Given the description of an element on the screen output the (x, y) to click on. 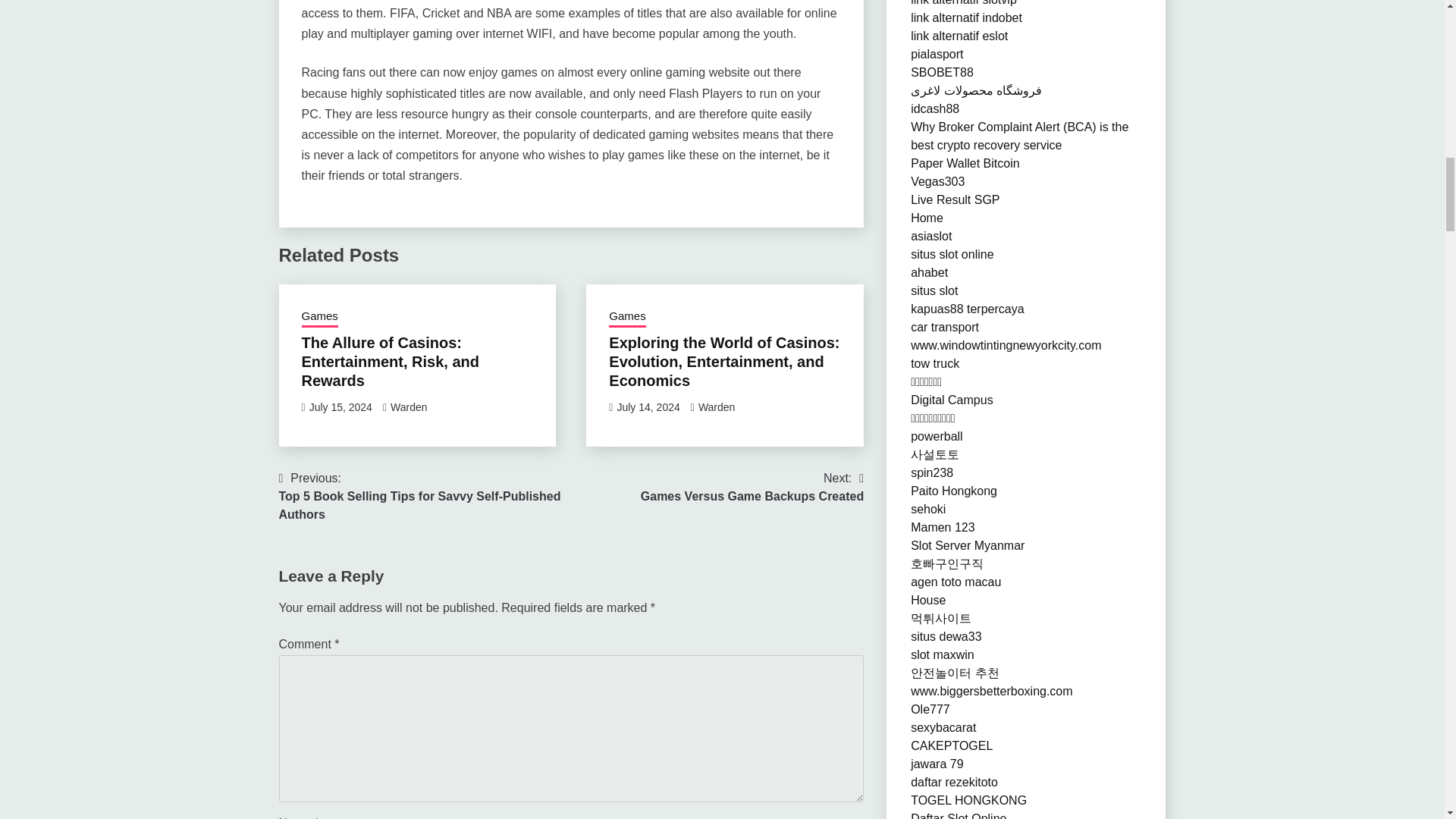
Games (319, 317)
The Allure of Casinos: Entertainment, Risk, and Rewards (390, 361)
Games (626, 317)
July 15, 2024 (751, 487)
July 14, 2024 (340, 407)
Warden (647, 407)
Warden (716, 407)
